Given the description of an element on the screen output the (x, y) to click on. 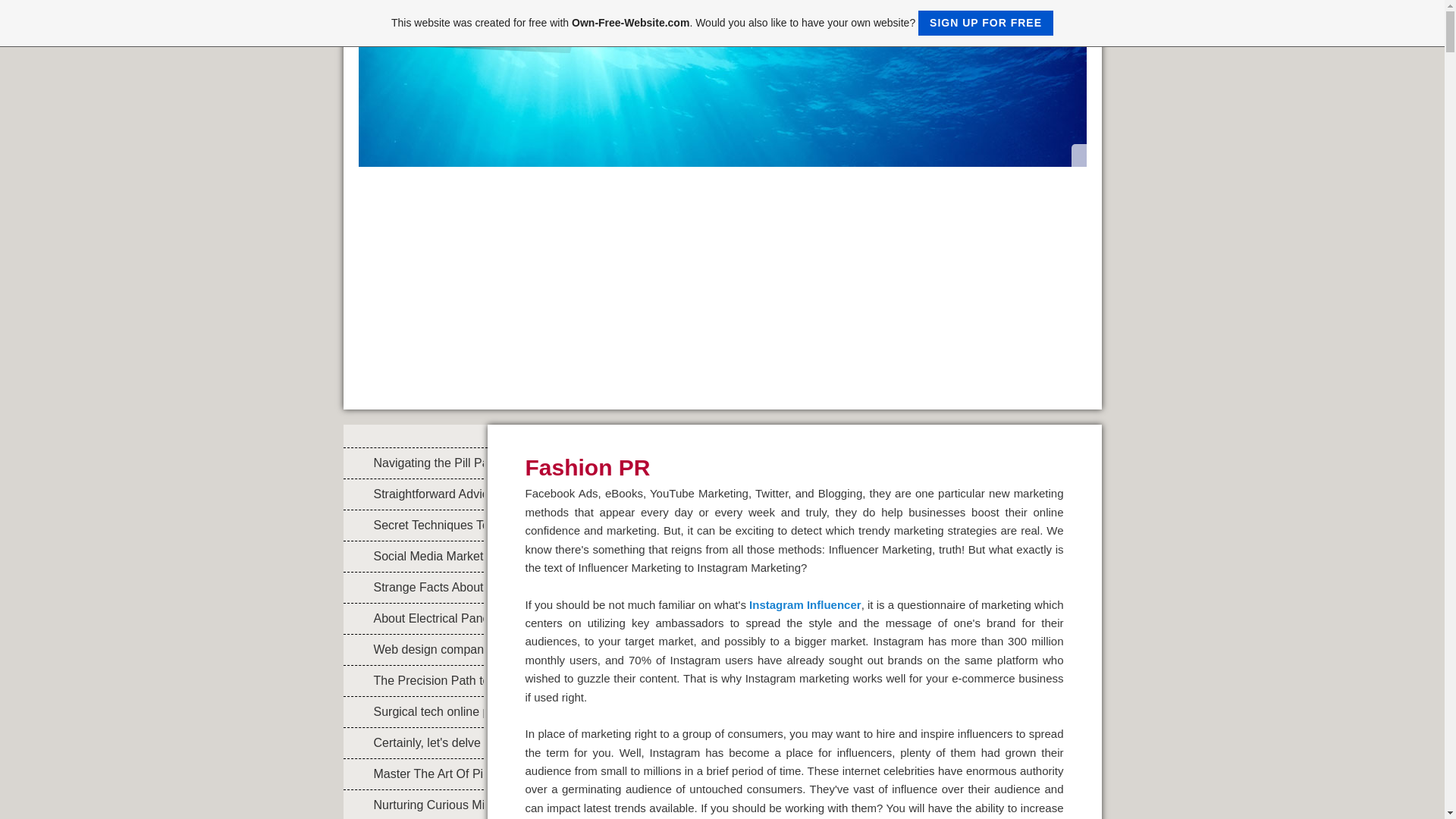
Surgical tech online programs (412, 711)
Strange Facts About African Christian Movies (412, 587)
About Electrical Panel (412, 618)
Secret Techniques To Improve Ctmatador Review (412, 525)
The Precision Path to Wellness: Exploring Allergy Testing (412, 680)
Web design company choosing (412, 649)
